Given the description of an element on the screen output the (x, y) to click on. 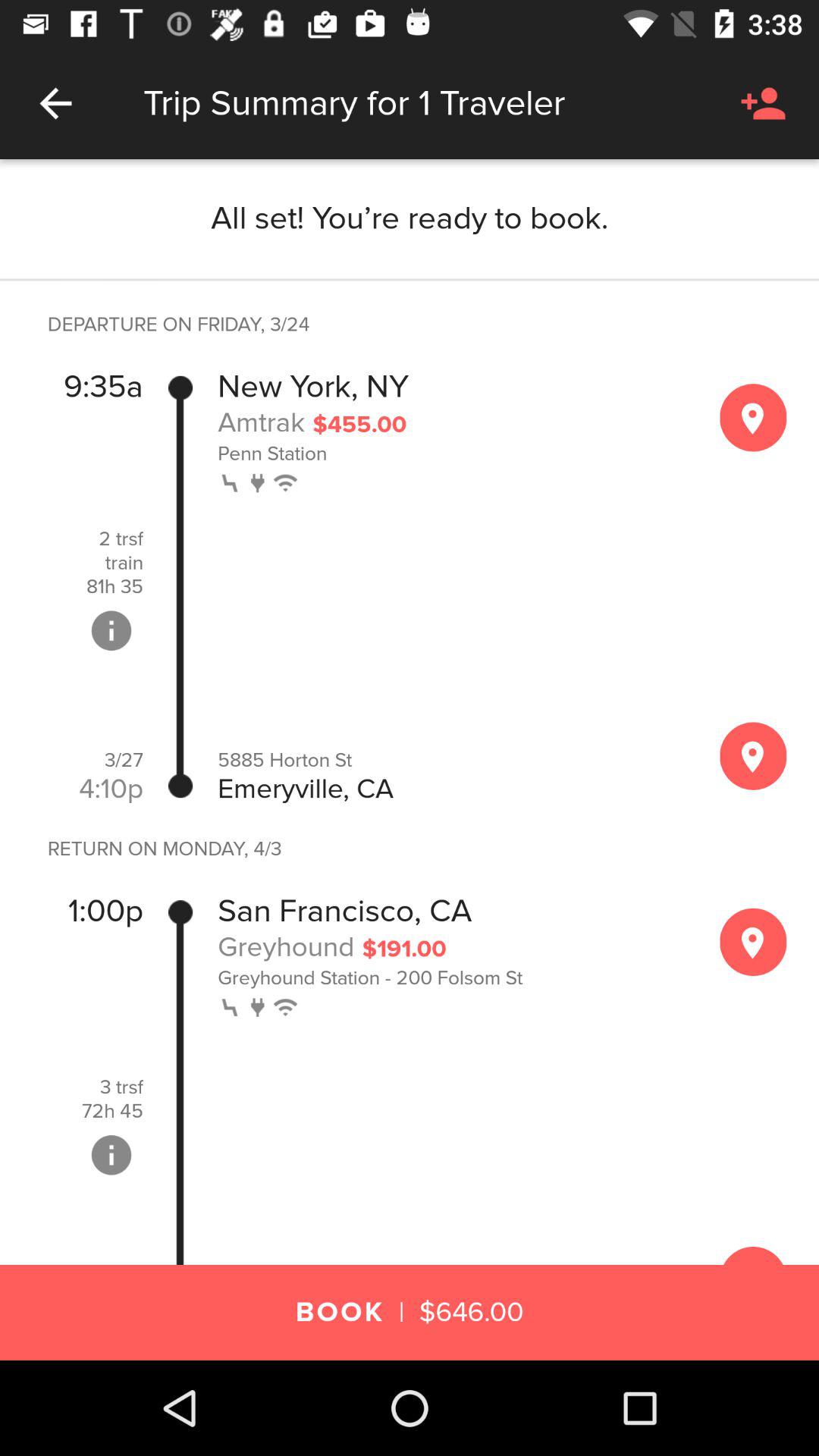
add waypoint (753, 417)
